Given the description of an element on the screen output the (x, y) to click on. 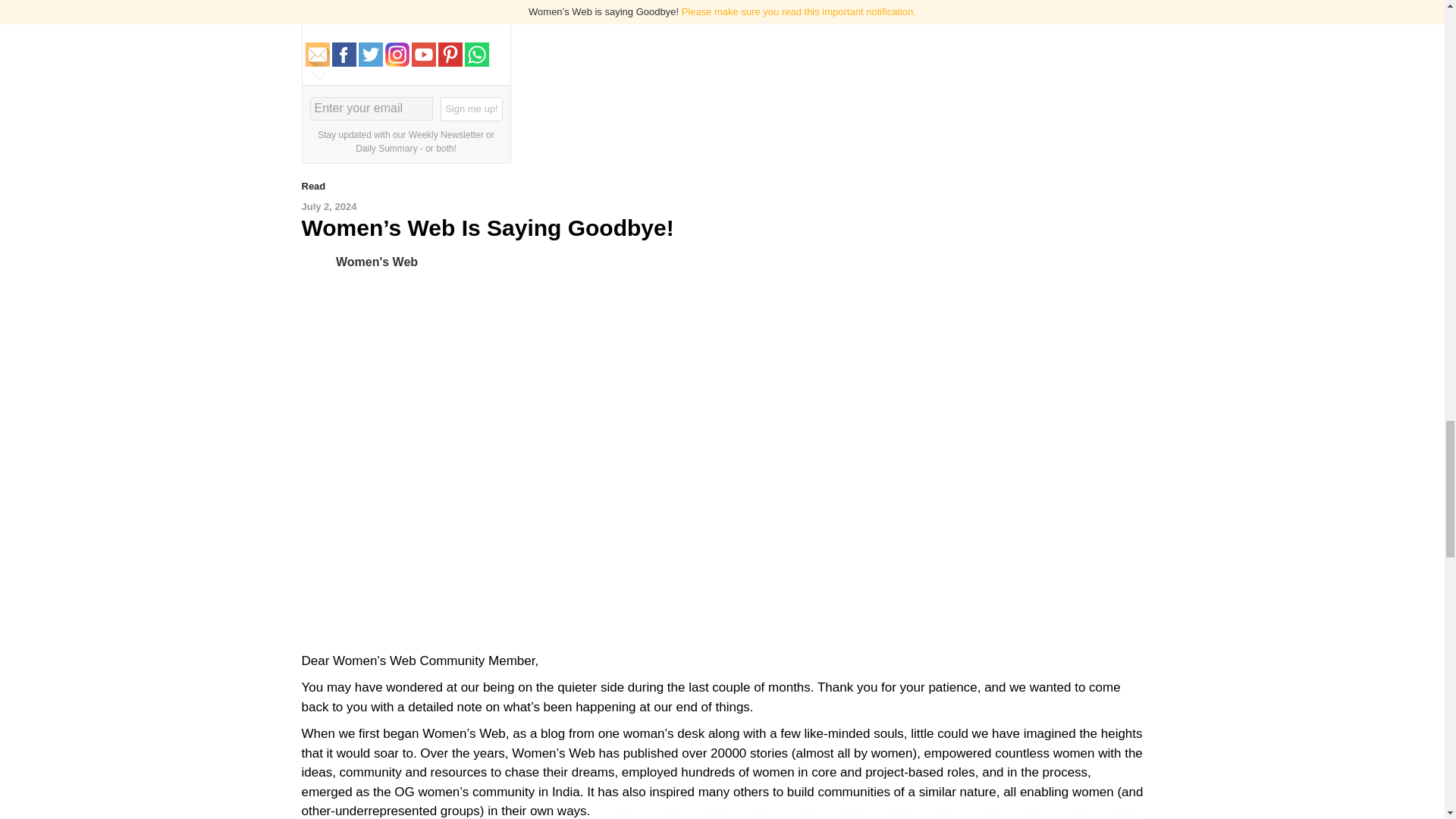
Women's Web (318, 260)
Sign me up! (471, 109)
Women's Web (376, 260)
